Given the description of an element on the screen output the (x, y) to click on. 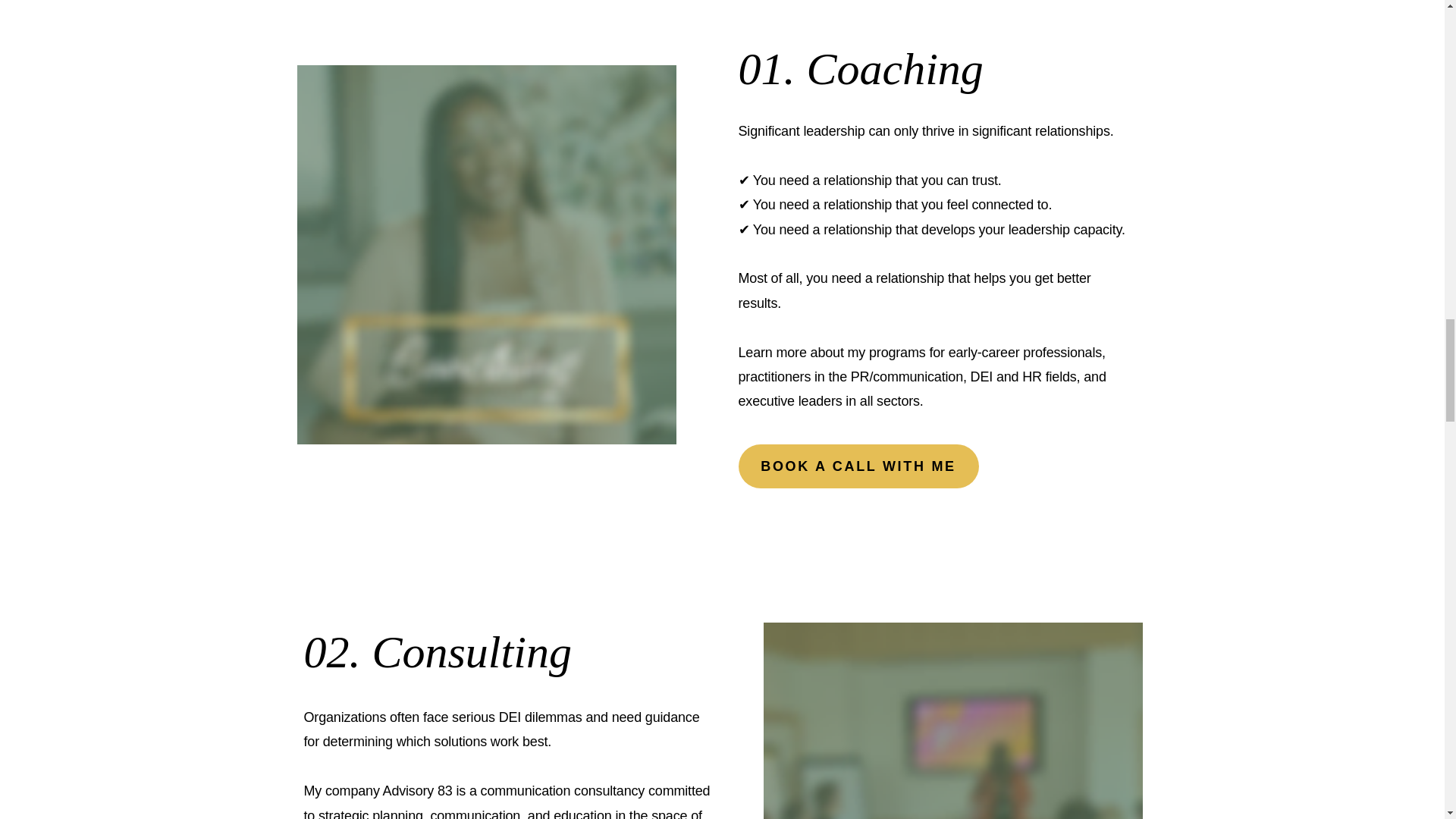
BOOK A CALL WITH ME (858, 466)
